Given the description of an element on the screen output the (x, y) to click on. 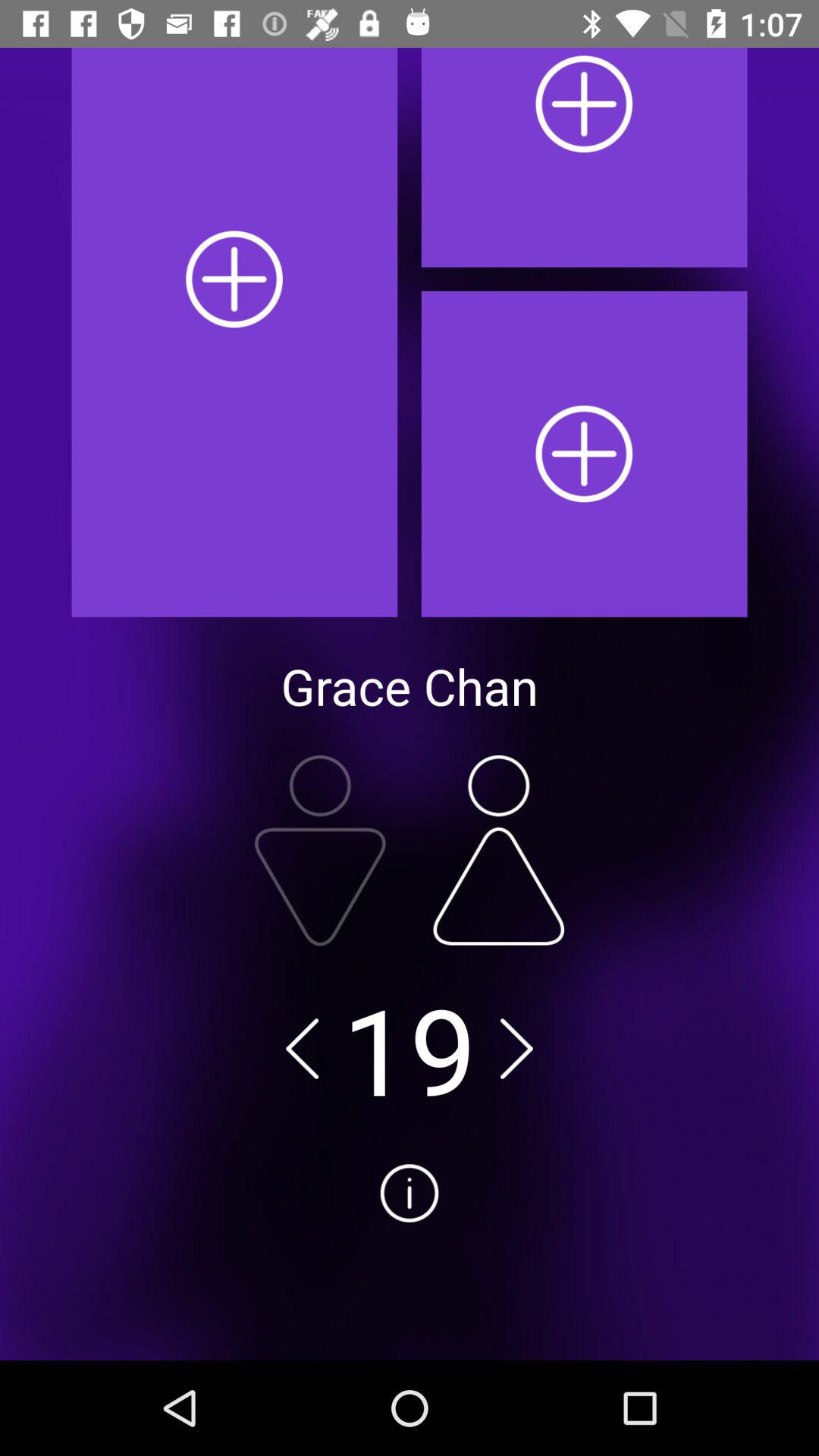
go forward (516, 1048)
